Given the description of an element on the screen output the (x, y) to click on. 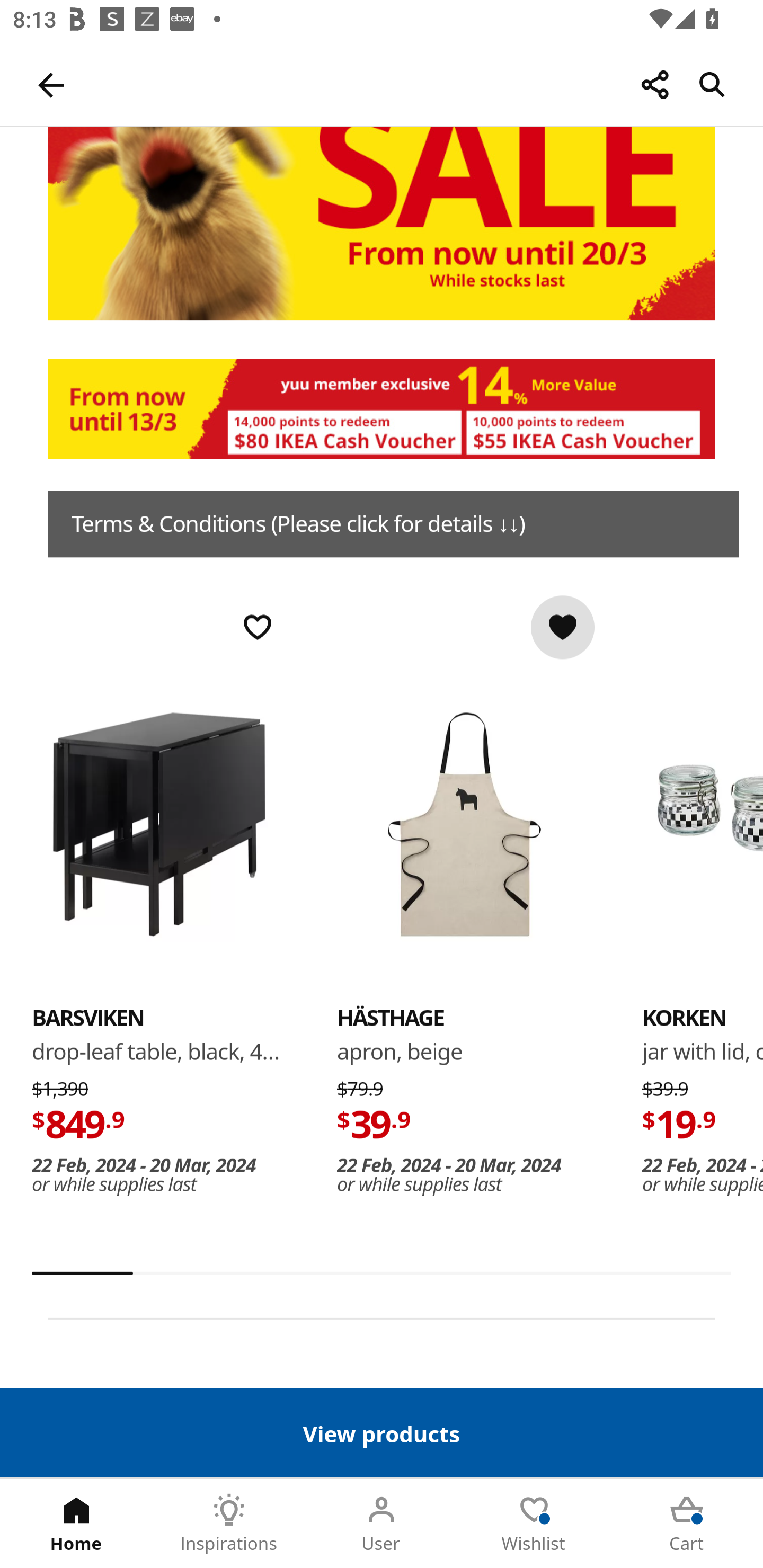
Terms & Conditions (Please click for details ↓↓) (393, 524)
BARSVIKEN (159, 823)
HÄSTHAGE (464, 823)
KORKEN (702, 823)
BARSVIKEN (88, 1017)
HÄSTHAGE (390, 1017)
KORKEN (684, 1017)
View products (381, 1432)
Home
Tab 1 of 5 (76, 1522)
Inspirations
Tab 2 of 5 (228, 1522)
User
Tab 3 of 5 (381, 1522)
Wishlist
Tab 4 of 5 (533, 1522)
Cart
Tab 5 of 5 (686, 1522)
